Given the description of an element on the screen output the (x, y) to click on. 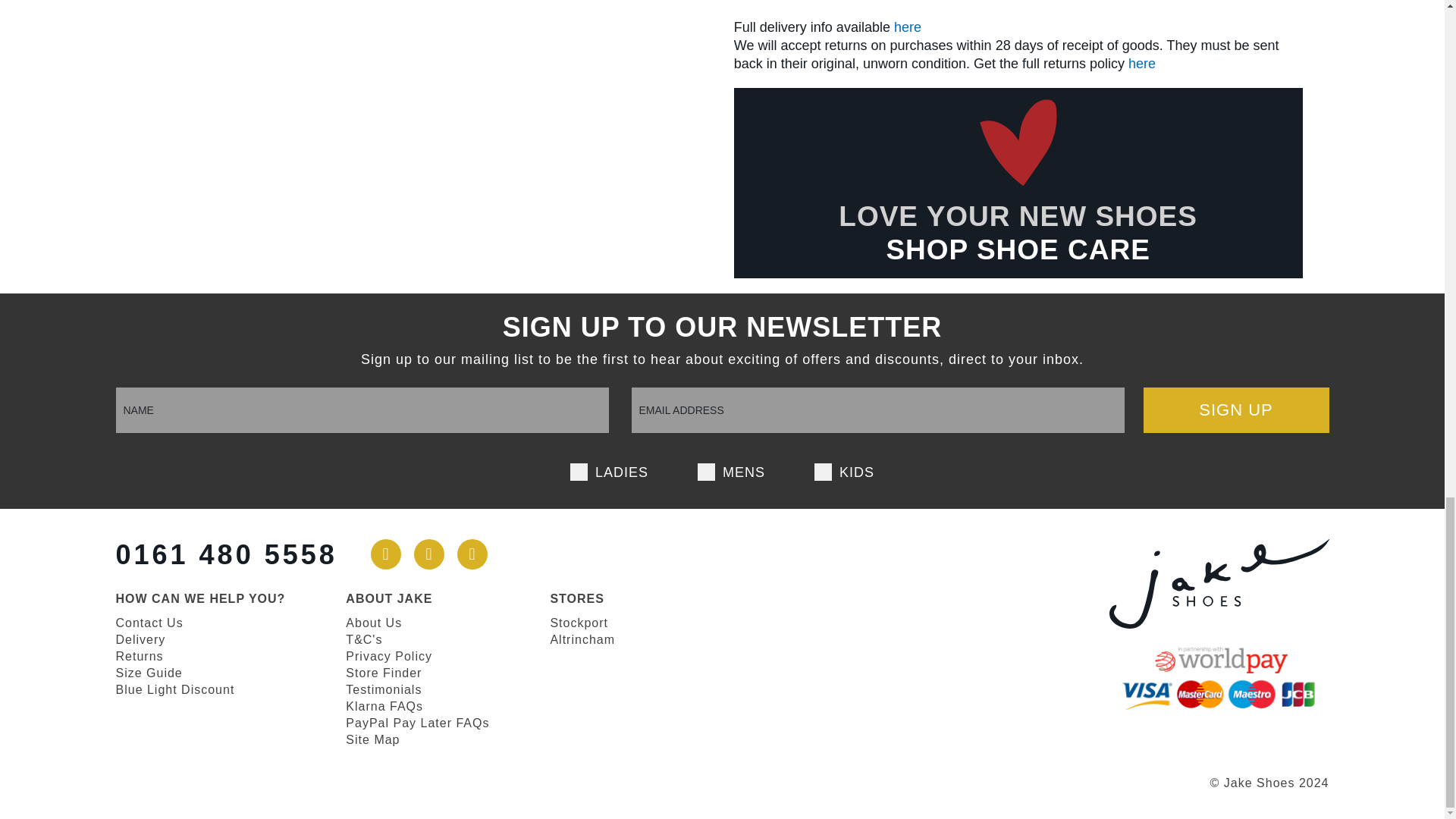
1 (574, 470)
1 (702, 470)
1 (818, 470)
